Given the description of an element on the screen output the (x, y) to click on. 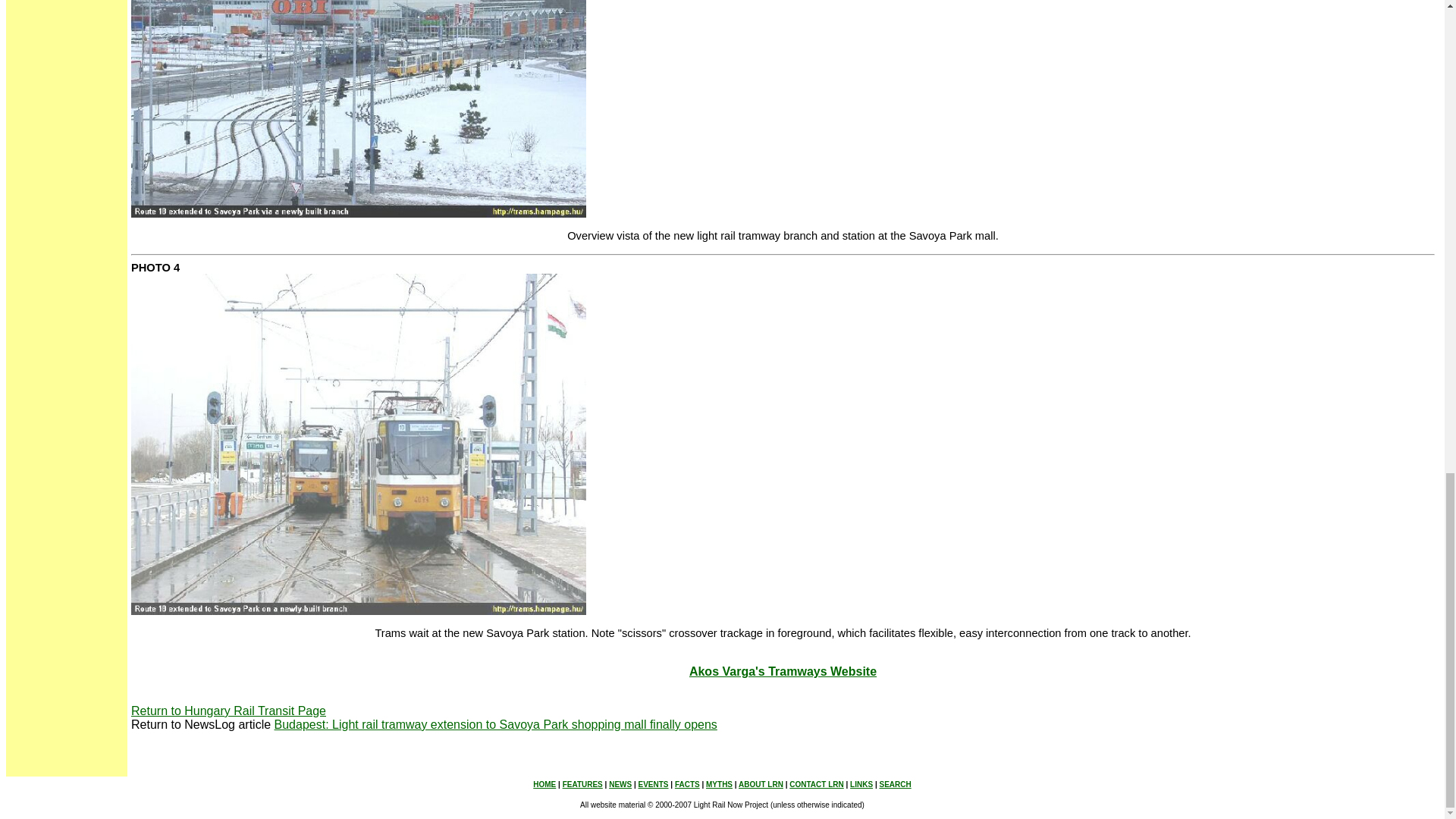
EVENTS (653, 784)
Return to Hungary Rail Transit Page (228, 710)
Akos Varga's Tramways Website (782, 671)
LINKS (861, 784)
HOME (544, 782)
SEARCH (895, 784)
CONTACT LRN (816, 784)
FEATURES (582, 784)
FACTS (687, 784)
MYTHS (719, 784)
NEWS (619, 784)
ABOUT LRN (760, 784)
